Given the description of an element on the screen output the (x, y) to click on. 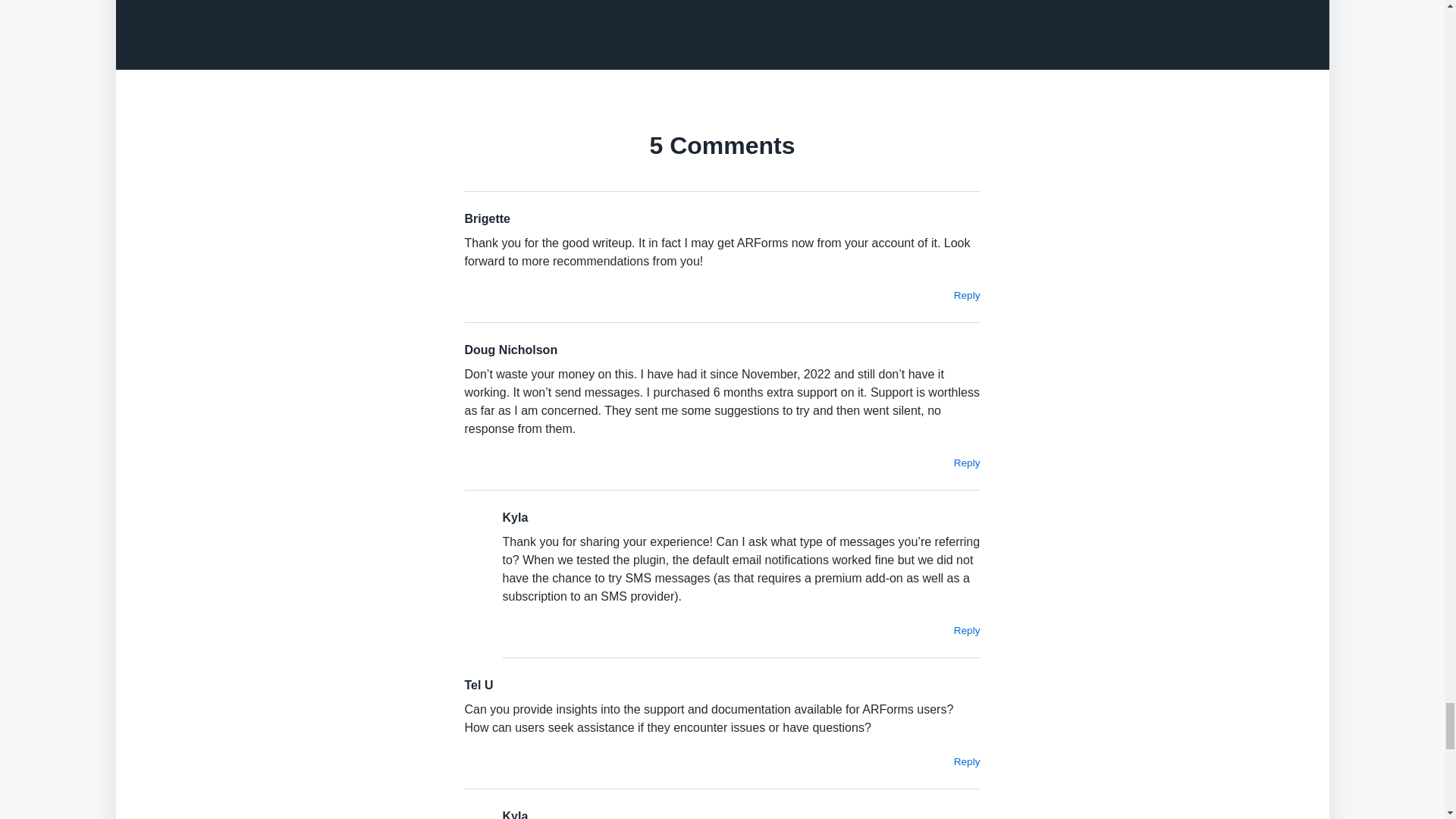
Reply (966, 761)
Reply (966, 295)
Reply (966, 630)
Reply (966, 462)
